Given the description of an element on the screen output the (x, y) to click on. 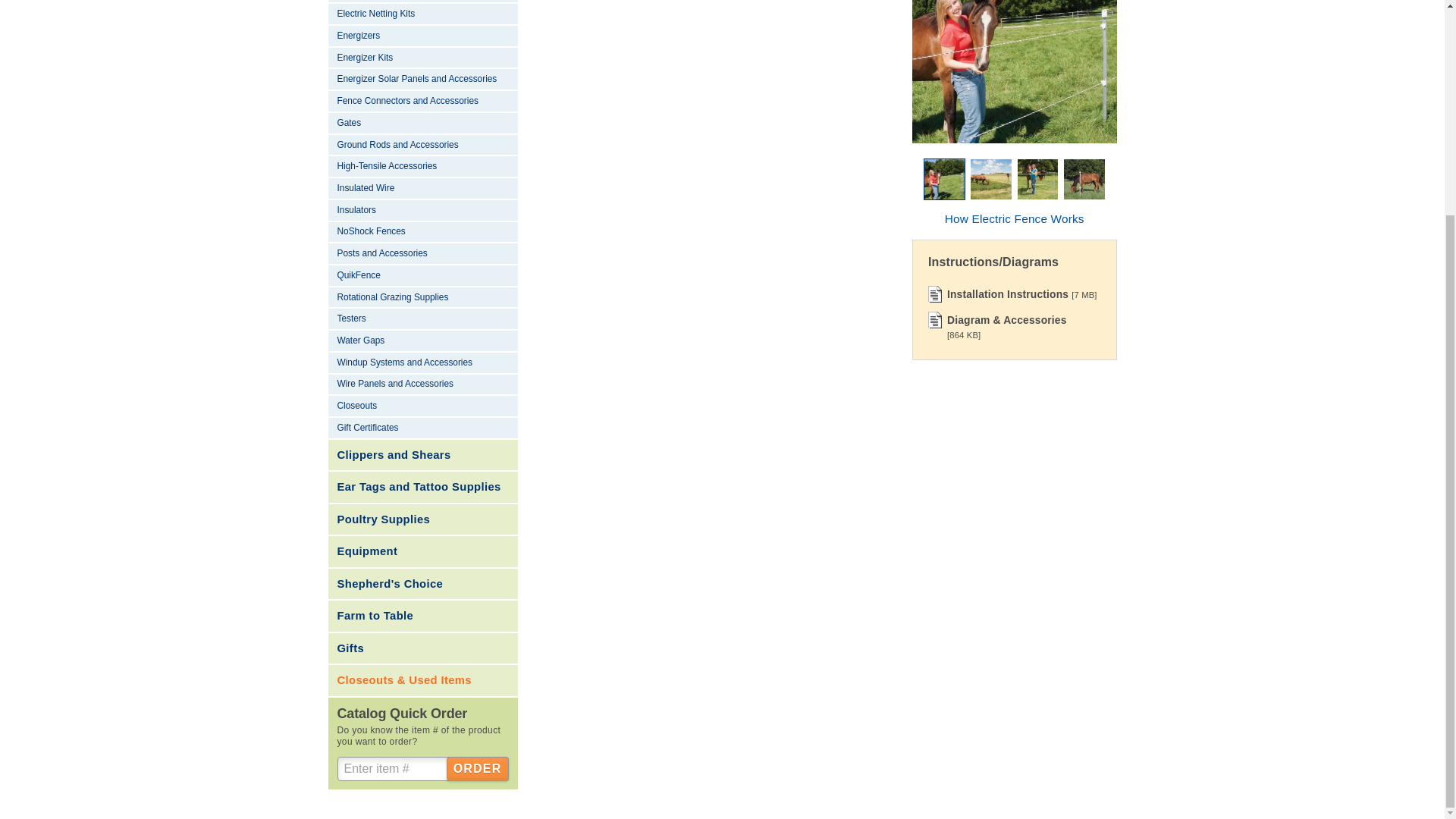
Energizer Kits (421, 58)
Closeouts (421, 406)
Fence Connectors and Accessories (421, 101)
Ear Tags and Tattoo Supplies (421, 487)
Gift Certificates (421, 428)
Clippers and Shears (421, 455)
Insulators (421, 210)
Windup Systems and Accessories (421, 363)
Energizer Solar Panels and Accessories (421, 79)
Posts and Accessories (421, 254)
Rotational Grazing Supplies (421, 298)
Electric Netting Kits (421, 14)
Testers (421, 319)
QuikFence (421, 276)
Insulated Wire (421, 188)
